Given the description of an element on the screen output the (x, y) to click on. 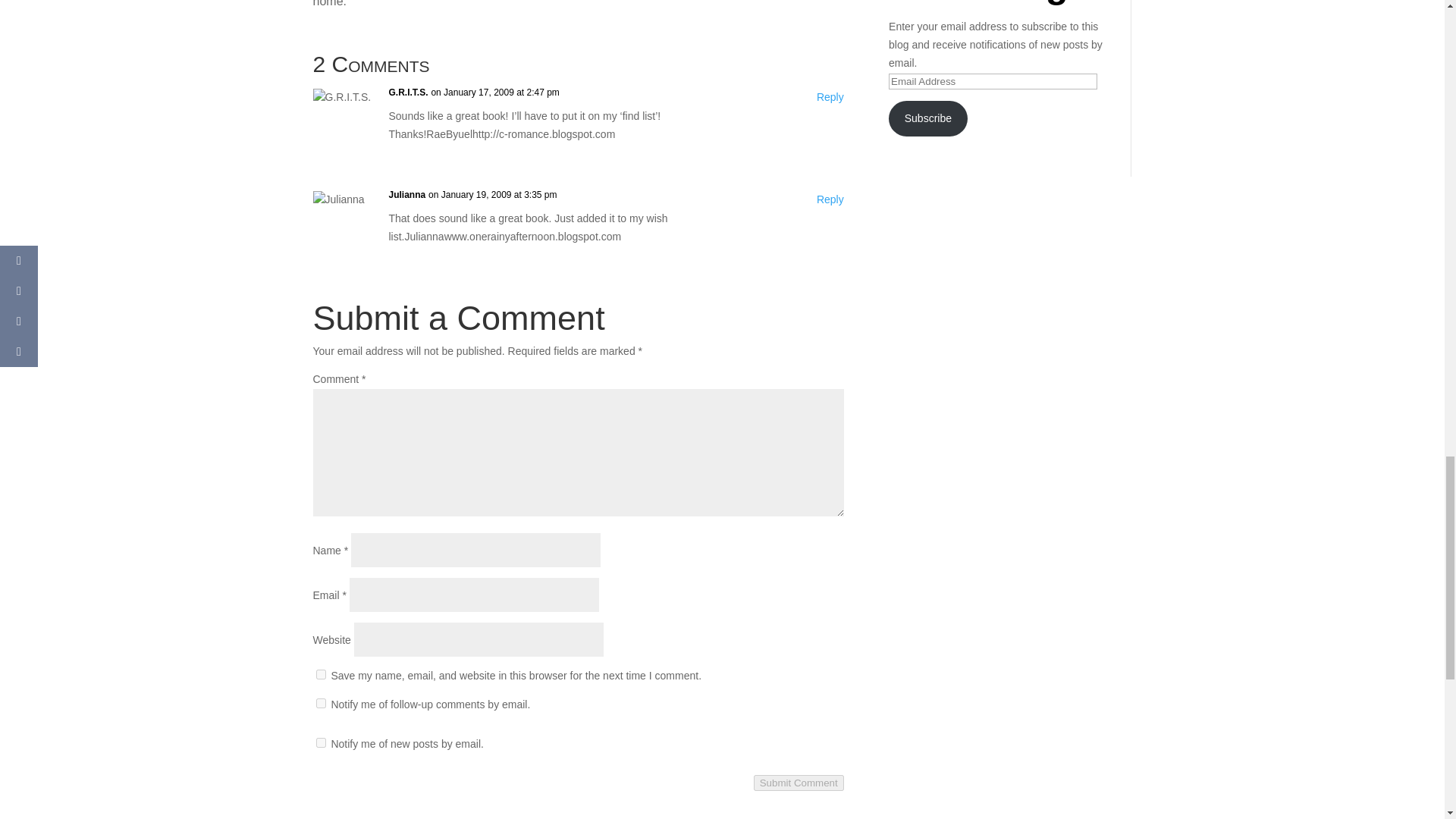
Reply (830, 199)
Reply (830, 97)
subscribe (319, 742)
Submit Comment (799, 782)
yes (319, 674)
subscribe (319, 703)
Subscribe (928, 117)
